Given the description of an element on the screen output the (x, y) to click on. 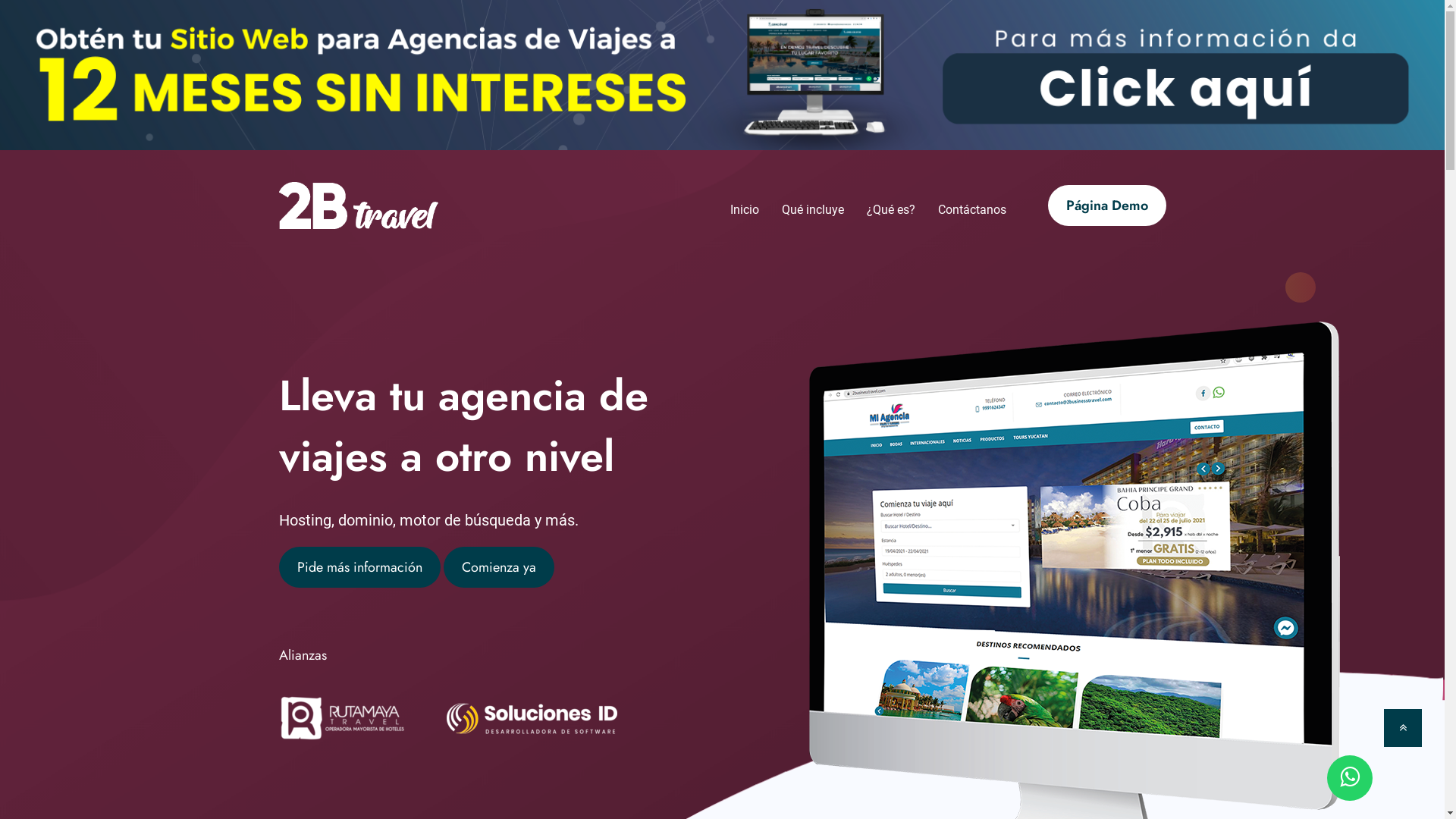
Inicio Element type: text (743, 209)
Comienza ya Element type: text (497, 566)
